Given the description of an element on the screen output the (x, y) to click on. 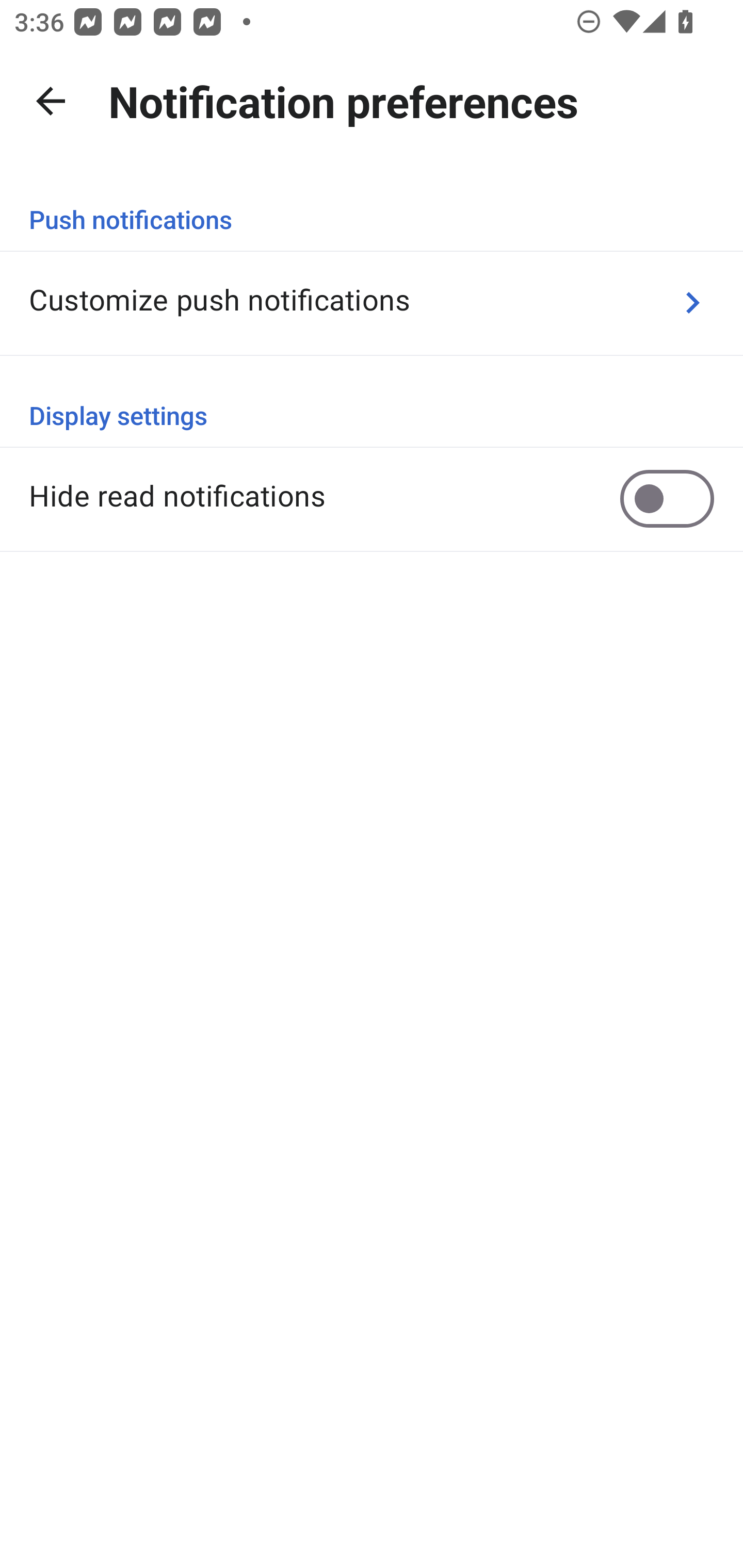
Navigate up (50, 101)
Customize push notifications (371, 302)
Hide read notifications (371, 498)
